Given the description of an element on the screen output the (x, y) to click on. 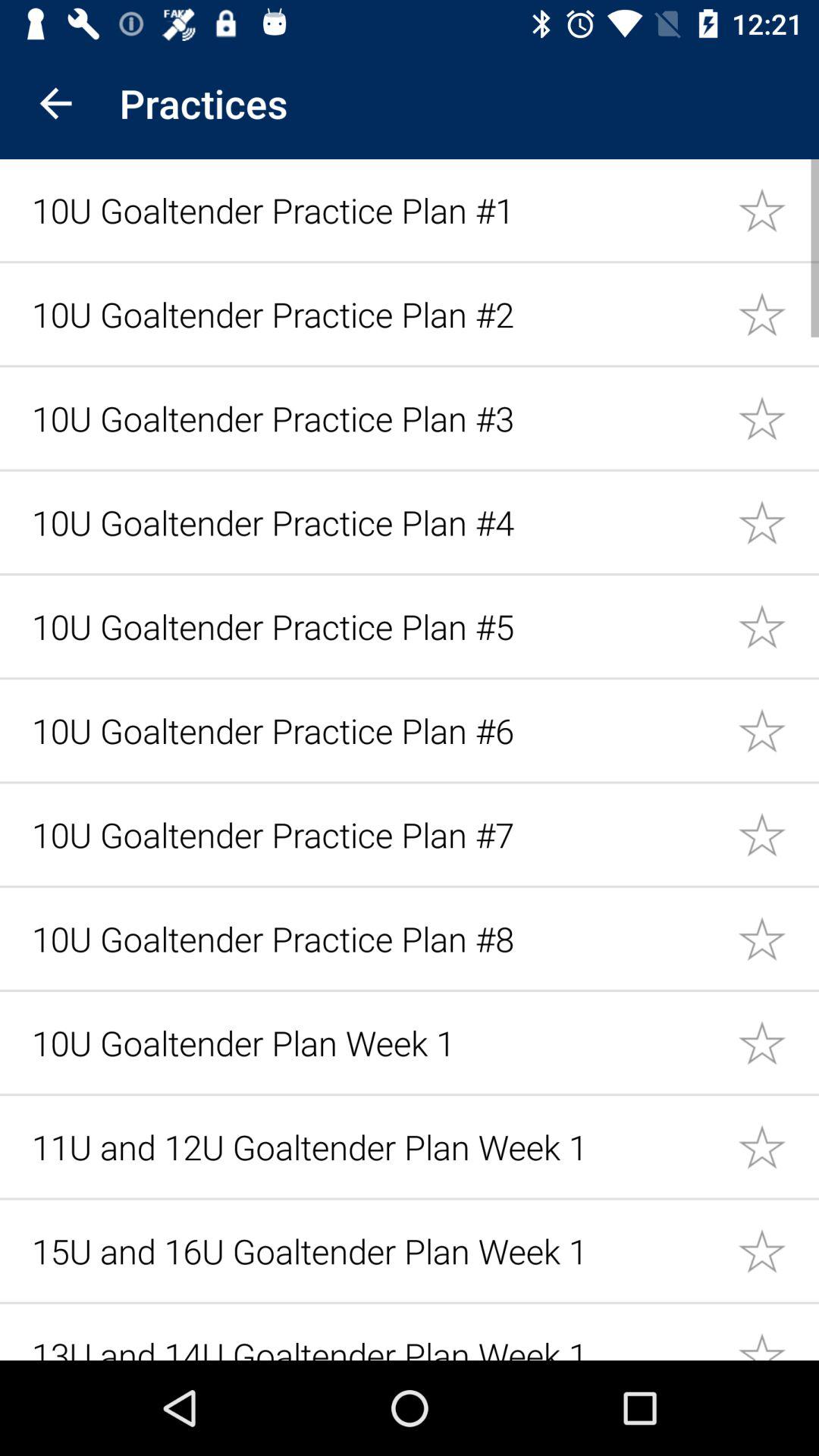
add to favorites (778, 417)
